Given the description of an element on the screen output the (x, y) to click on. 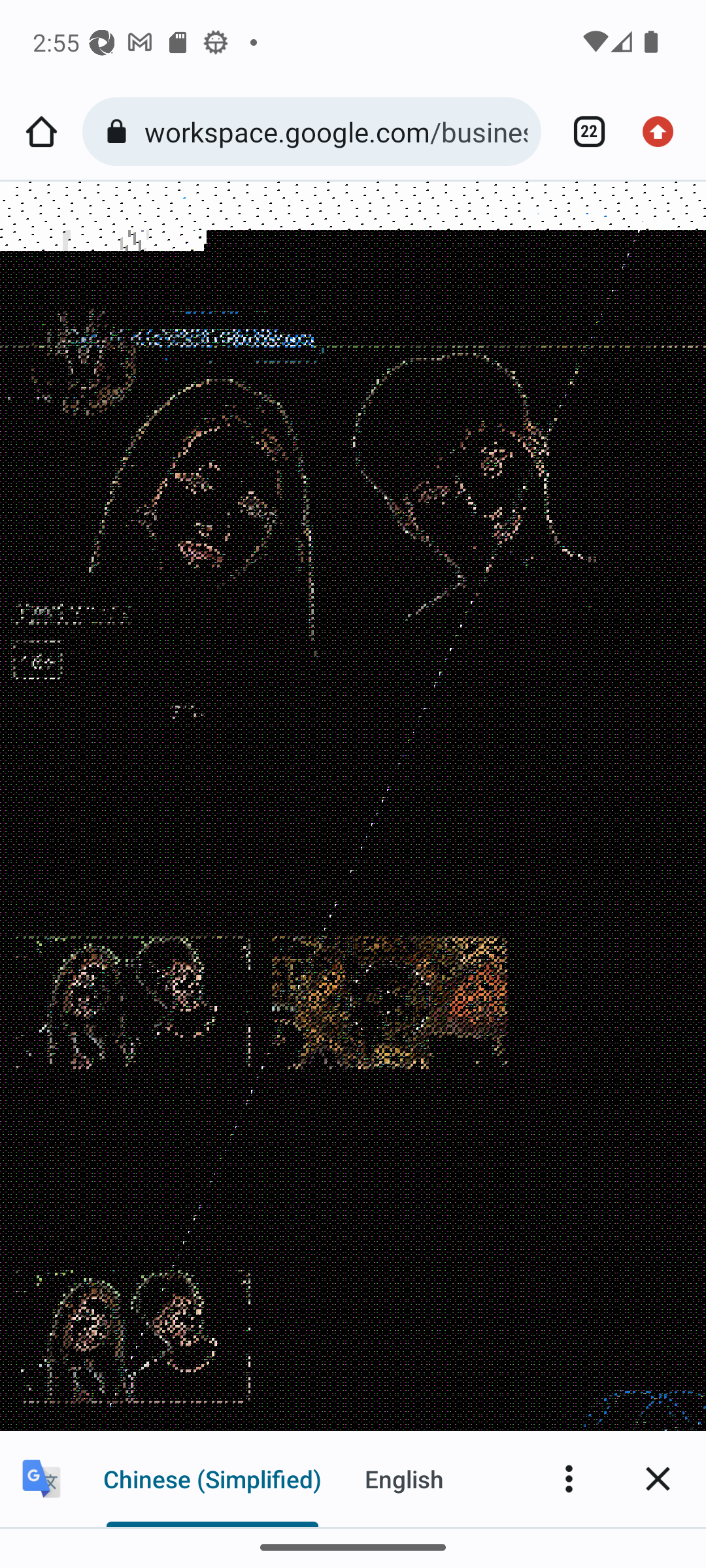
Home (41, 131)
Connection is secure (120, 131)
Switch or close tabs (582, 131)
Update available. More options (664, 131)
English (403, 1478)
More options (568, 1478)
Close (657, 1478)
